Given the description of an element on the screen output the (x, y) to click on. 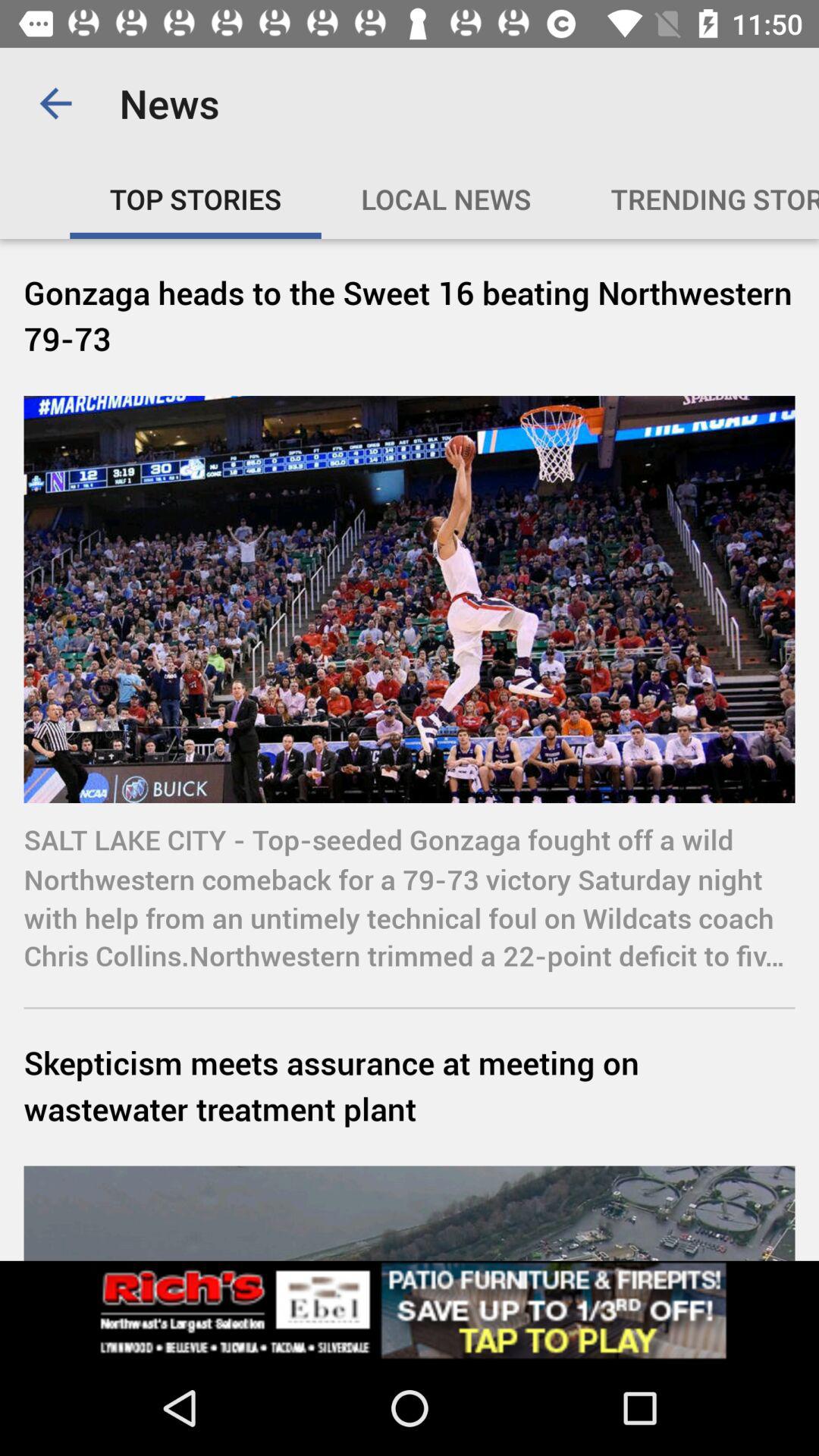
go to advertisement (409, 1310)
